Given the description of an element on the screen output the (x, y) to click on. 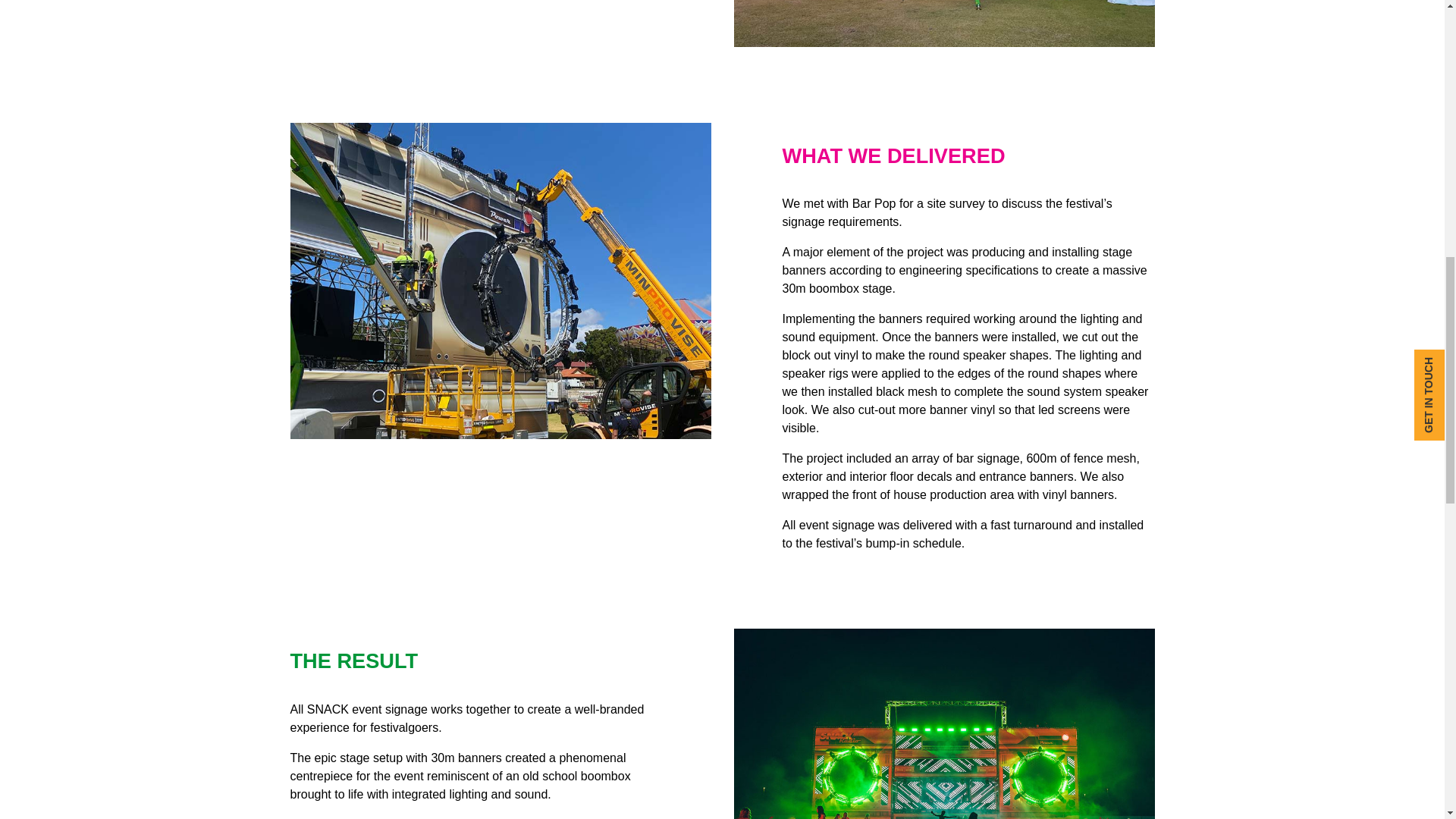
festival stage banners (499, 280)
stage banners perth (943, 23)
KS Digital Media copy (943, 723)
